Given the description of an element on the screen output the (x, y) to click on. 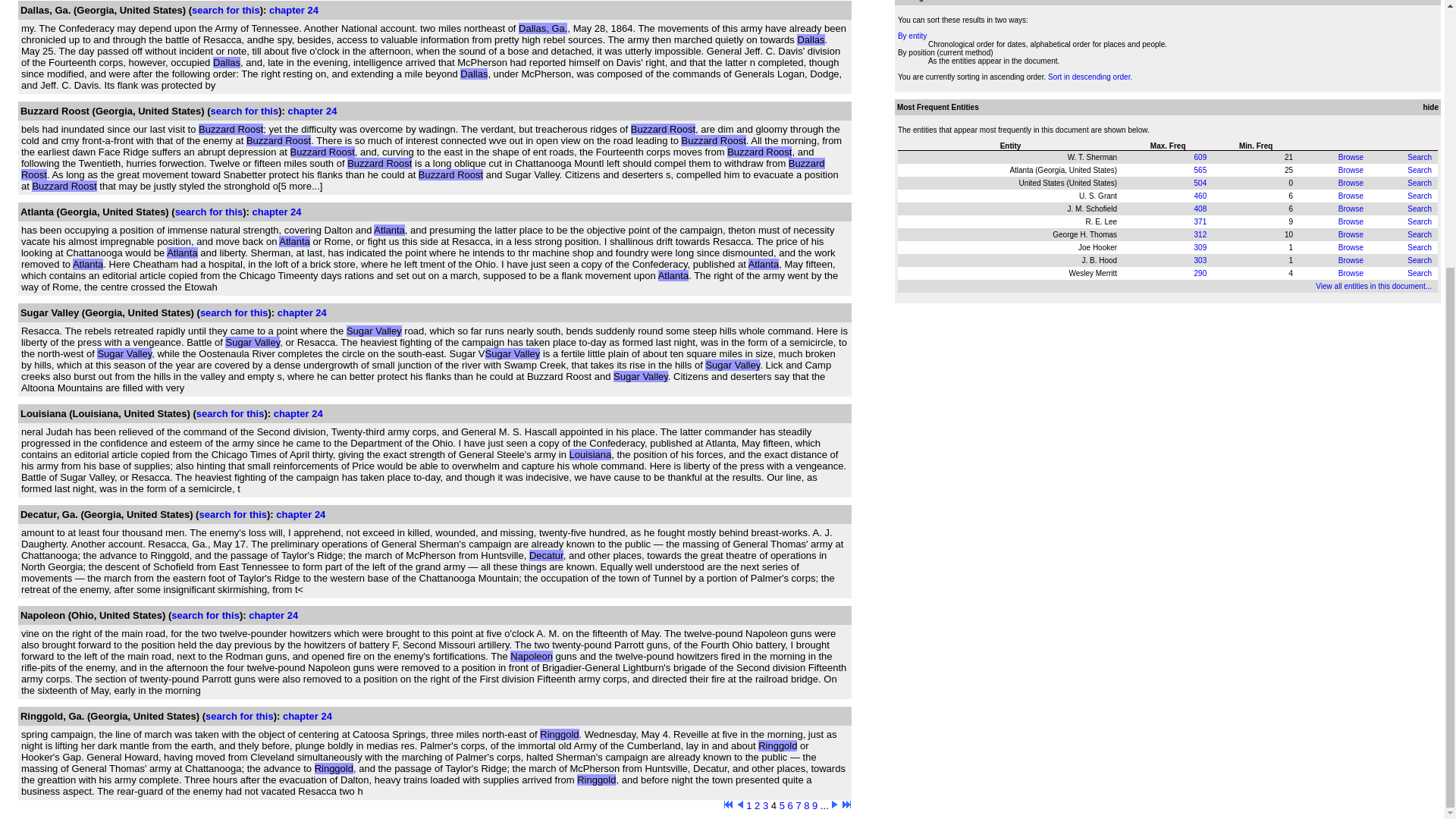
565 (1200, 170)
609 (1200, 157)
504 (1200, 183)
Search (1419, 221)
Browse (1350, 183)
408 (1200, 208)
By entity (912, 35)
Browse (1350, 195)
460 (1200, 195)
Browse (1350, 221)
Search (1419, 195)
Search (1419, 157)
Browse (1350, 234)
Search (1419, 183)
Search (1419, 170)
